Given the description of an element on the screen output the (x, y) to click on. 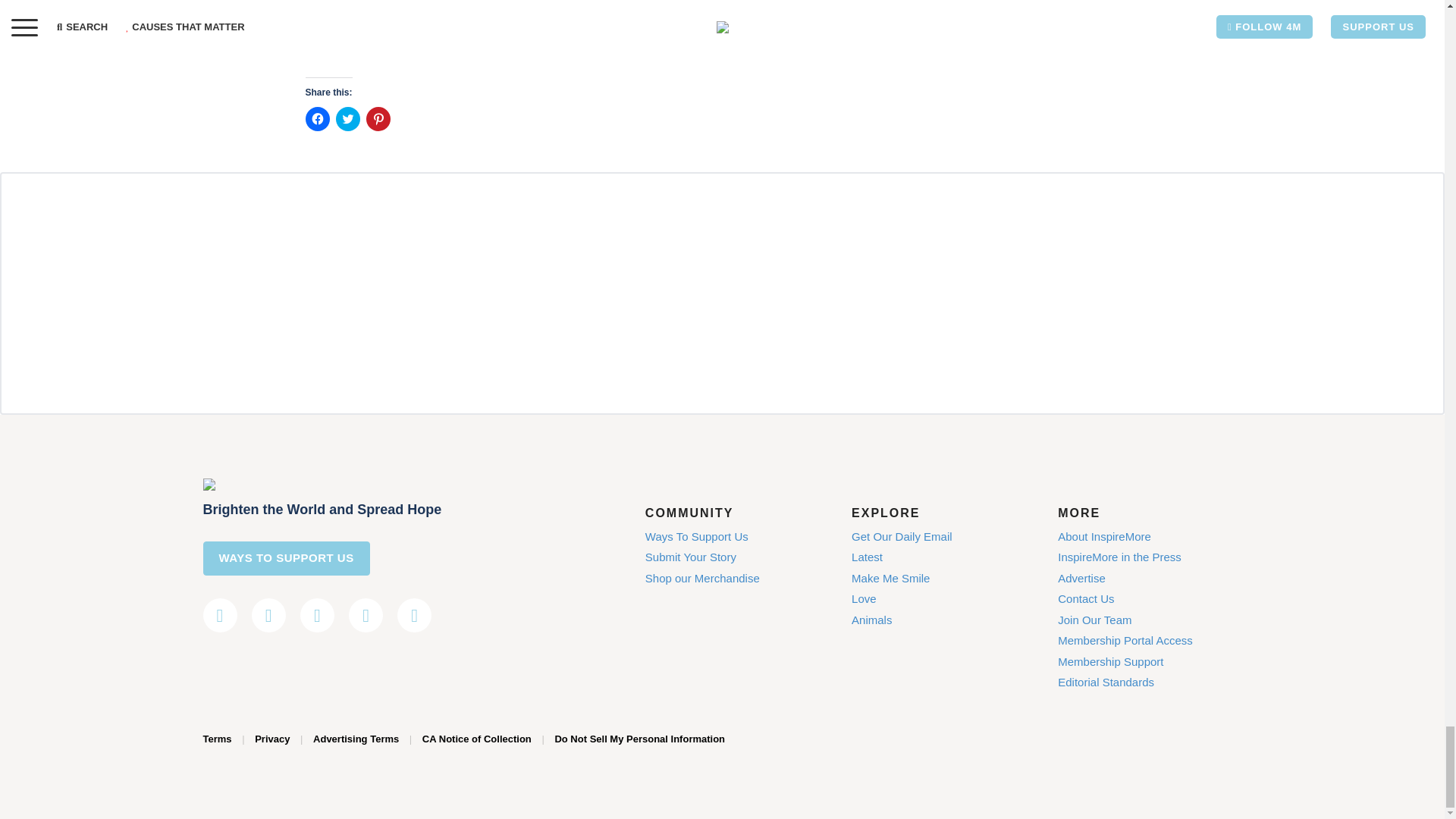
Click to share on Twitter (346, 119)
Click to share on Facebook (316, 119)
Click to share on Pinterest (377, 119)
